Given the description of an element on the screen output the (x, y) to click on. 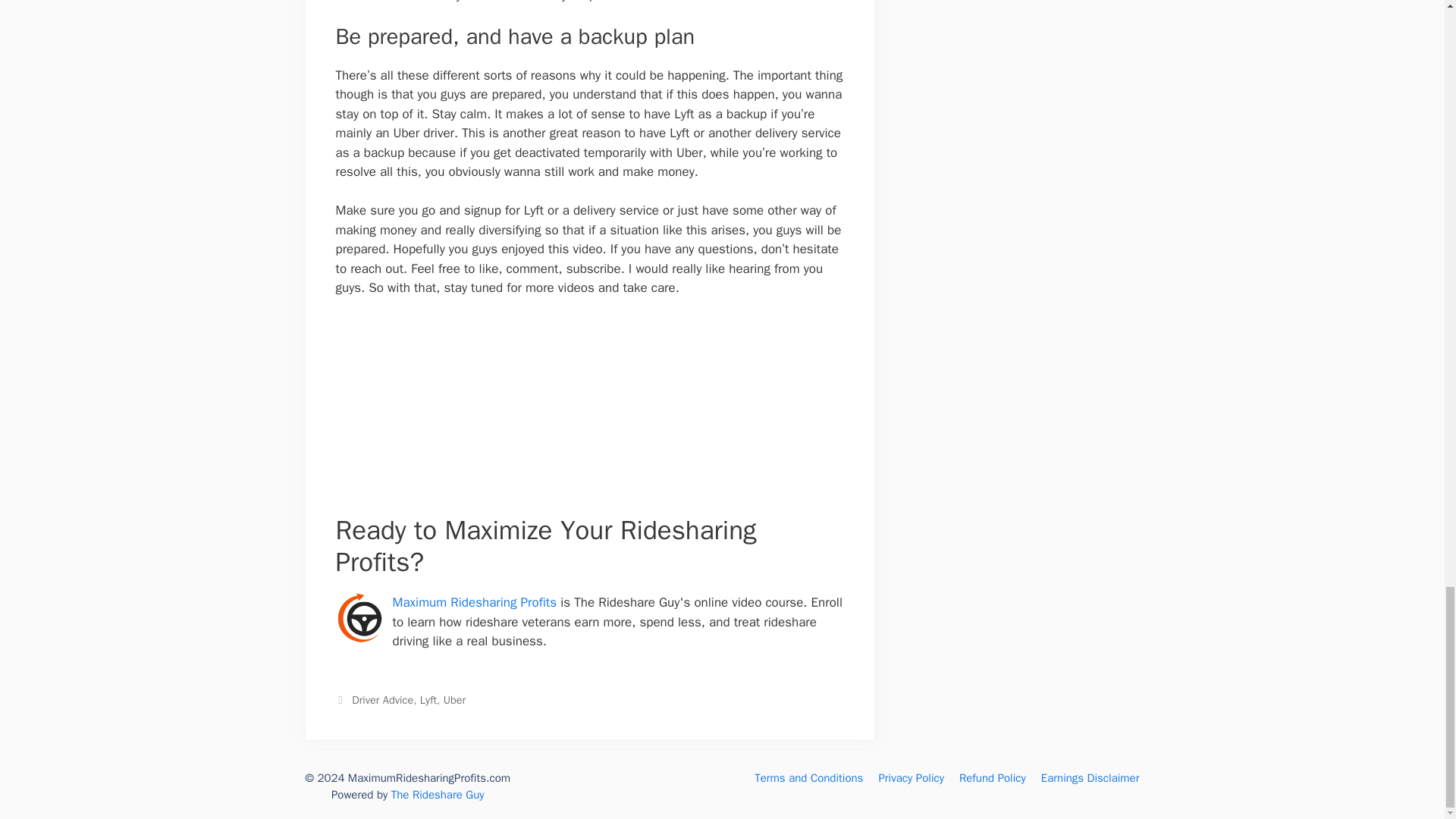
Lyft (428, 699)
The Rideshare Guy (437, 794)
Maximum Ridesharing Profits (475, 602)
Refund Policy (992, 777)
Driver Advice (382, 699)
Terms and Conditions (808, 777)
Privacy Policy (910, 777)
Earnings Disclaimer (1090, 777)
Uber (454, 699)
